Given the description of an element on the screen output the (x, y) to click on. 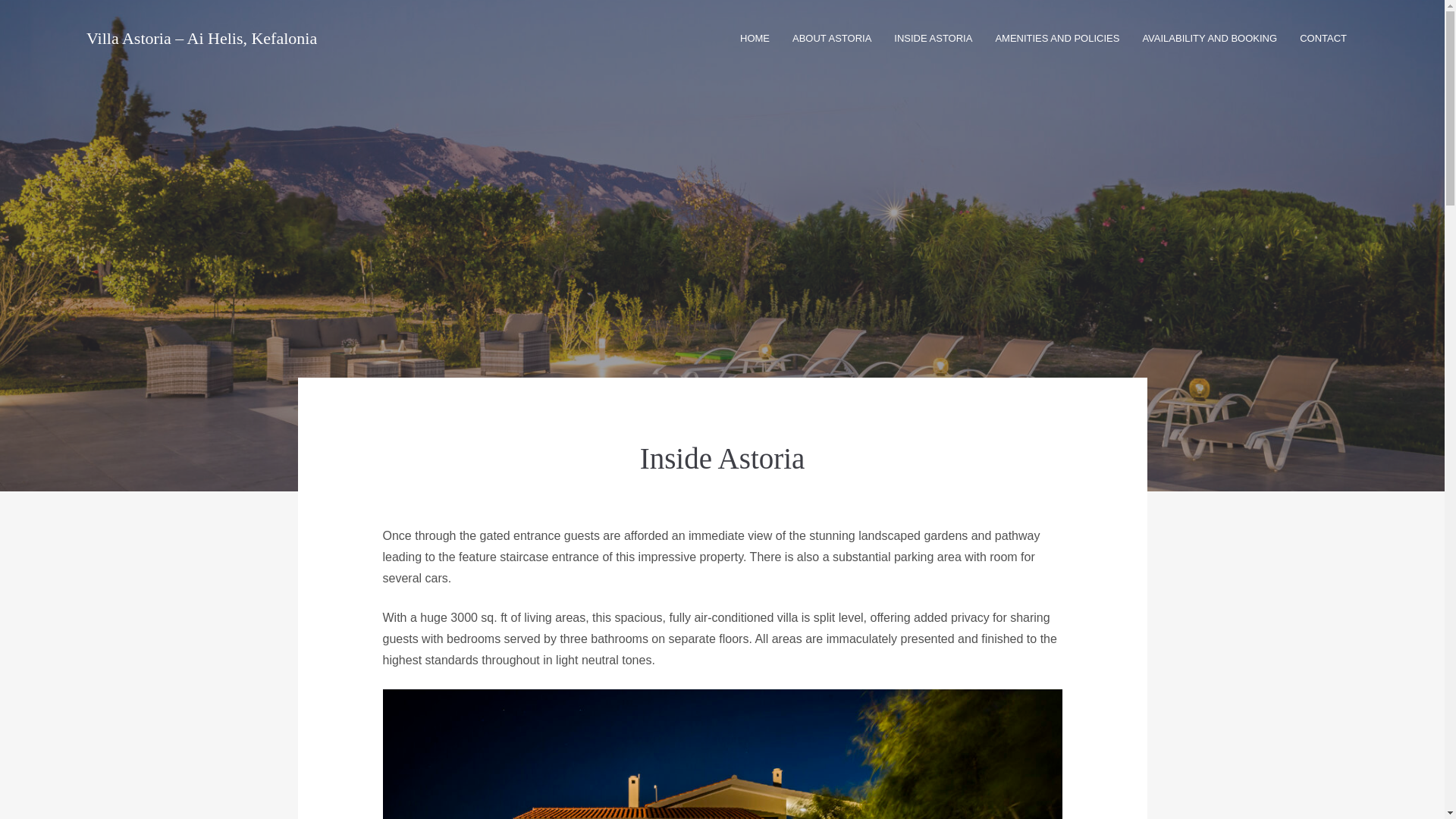
AMENITIES AND POLICIES (1056, 38)
CONTACT (1323, 38)
ABOUT ASTORIA (831, 38)
AVAILABILITY AND BOOKING (1208, 38)
INSIDE ASTORIA (932, 38)
